Given the description of an element on the screen output the (x, y) to click on. 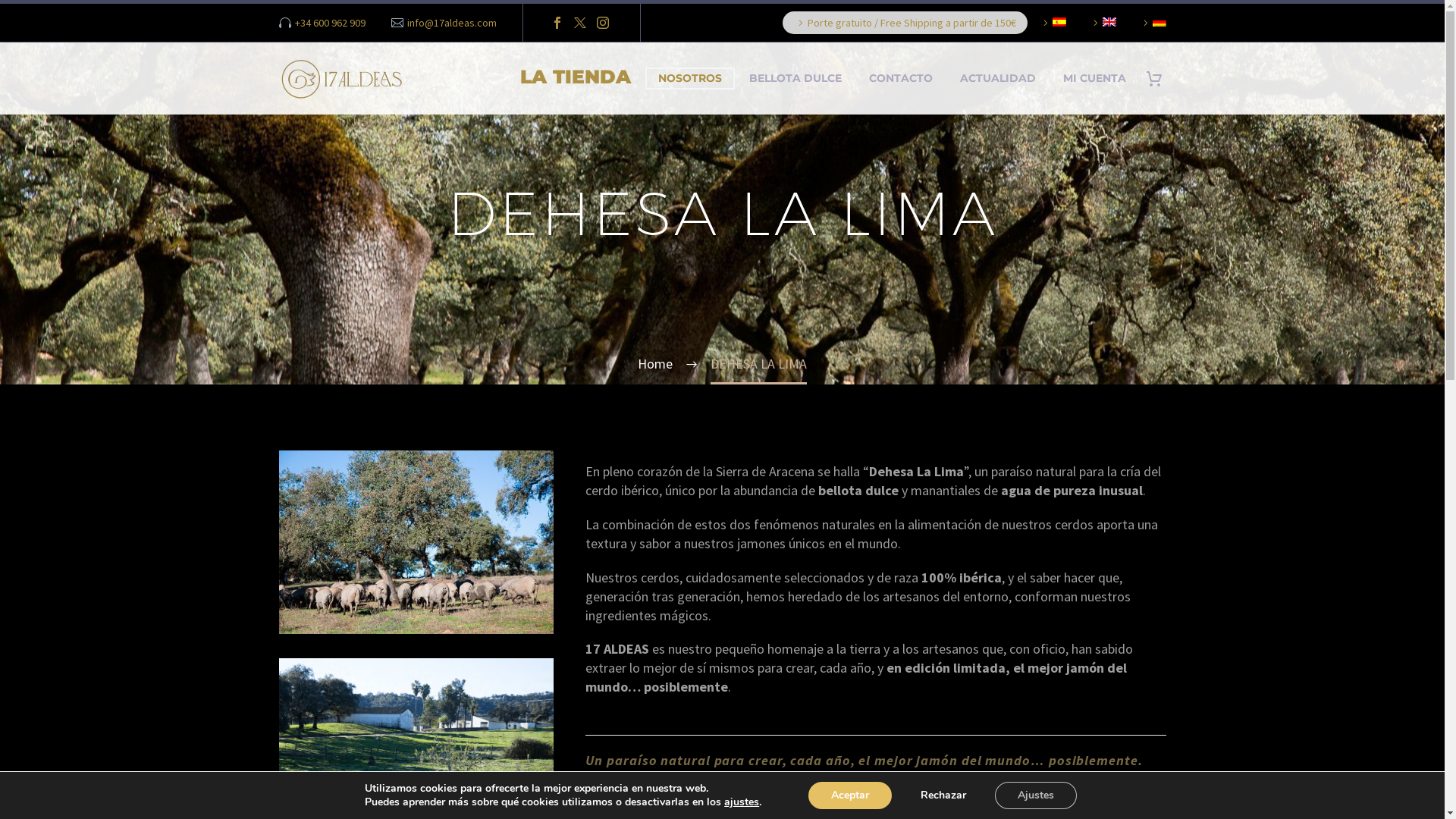
+34 600 962 909 Element type: text (329, 22)
MI CUENTA Element type: text (1093, 78)
Rechazar Element type: text (942, 795)
NOSOTROS Element type: text (689, 78)
Home Element type: text (654, 363)
BELLOTA DULCE Element type: text (794, 78)
Ajustes Element type: text (1035, 795)
ACTUALIDAD Element type: text (996, 78)
Instagram Element type: hover (602, 22)
Twitter Element type: hover (579, 22)
info@17aldeas.com Element type: text (451, 22)
Aceptar Element type: text (849, 795)
LA TIENDA Element type: text (574, 78)
Facebook Element type: hover (557, 22)
CONTACTO Element type: text (899, 78)
ajustes Element type: text (741, 802)
